Given the description of an element on the screen output the (x, y) to click on. 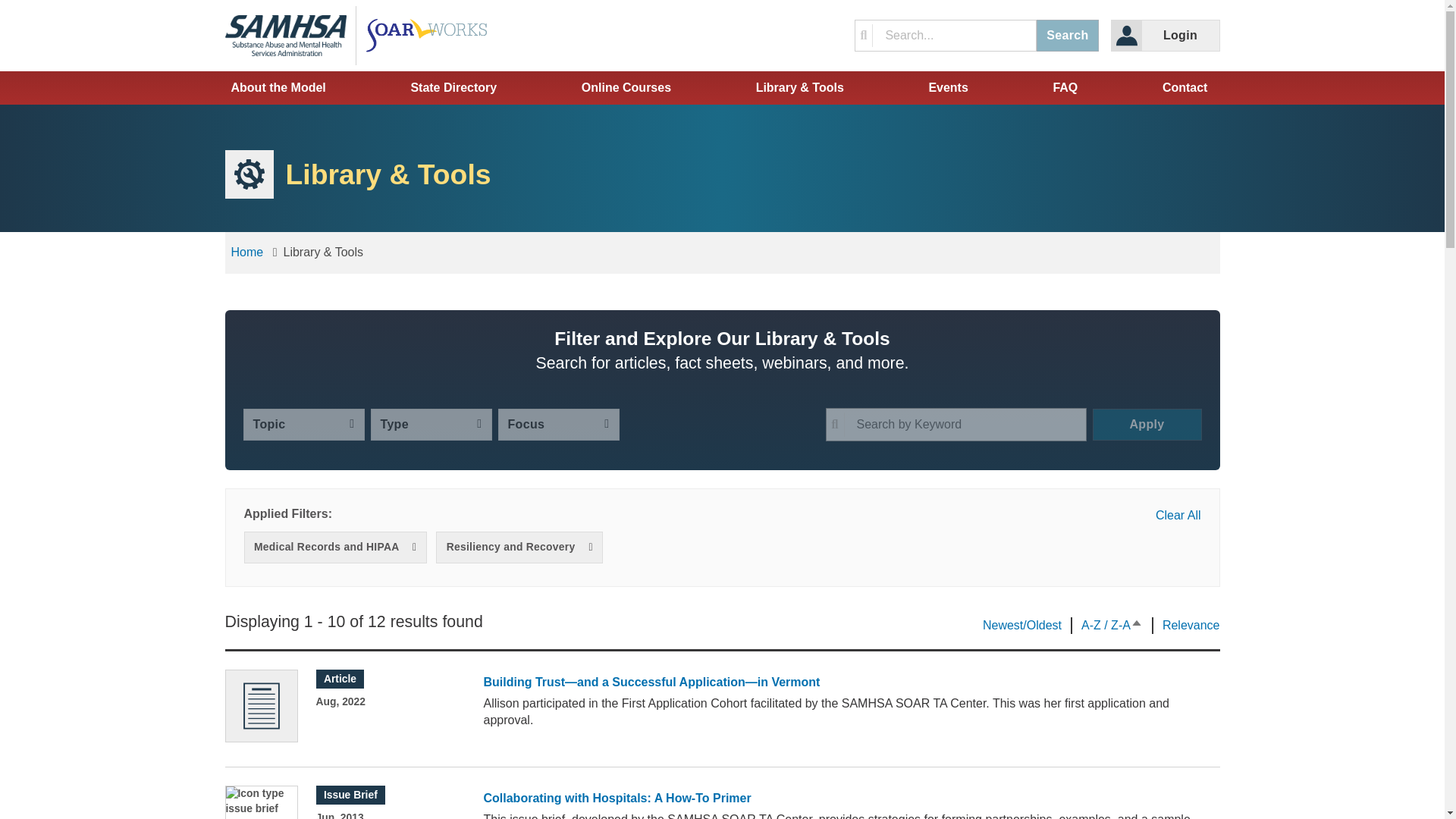
Home (430, 35)
samhsa.gov Home (289, 35)
Home (246, 251)
Online Courses (625, 87)
Icon type issue brief (261, 802)
Contact (1184, 87)
Type (430, 424)
Search (1066, 35)
Topic (303, 424)
Skip to main content (721, 12)
Apply (1146, 424)
Icon type article (261, 706)
State Directory (453, 87)
Search (1066, 35)
User Account Login (1164, 35)
